Given the description of an element on the screen output the (x, y) to click on. 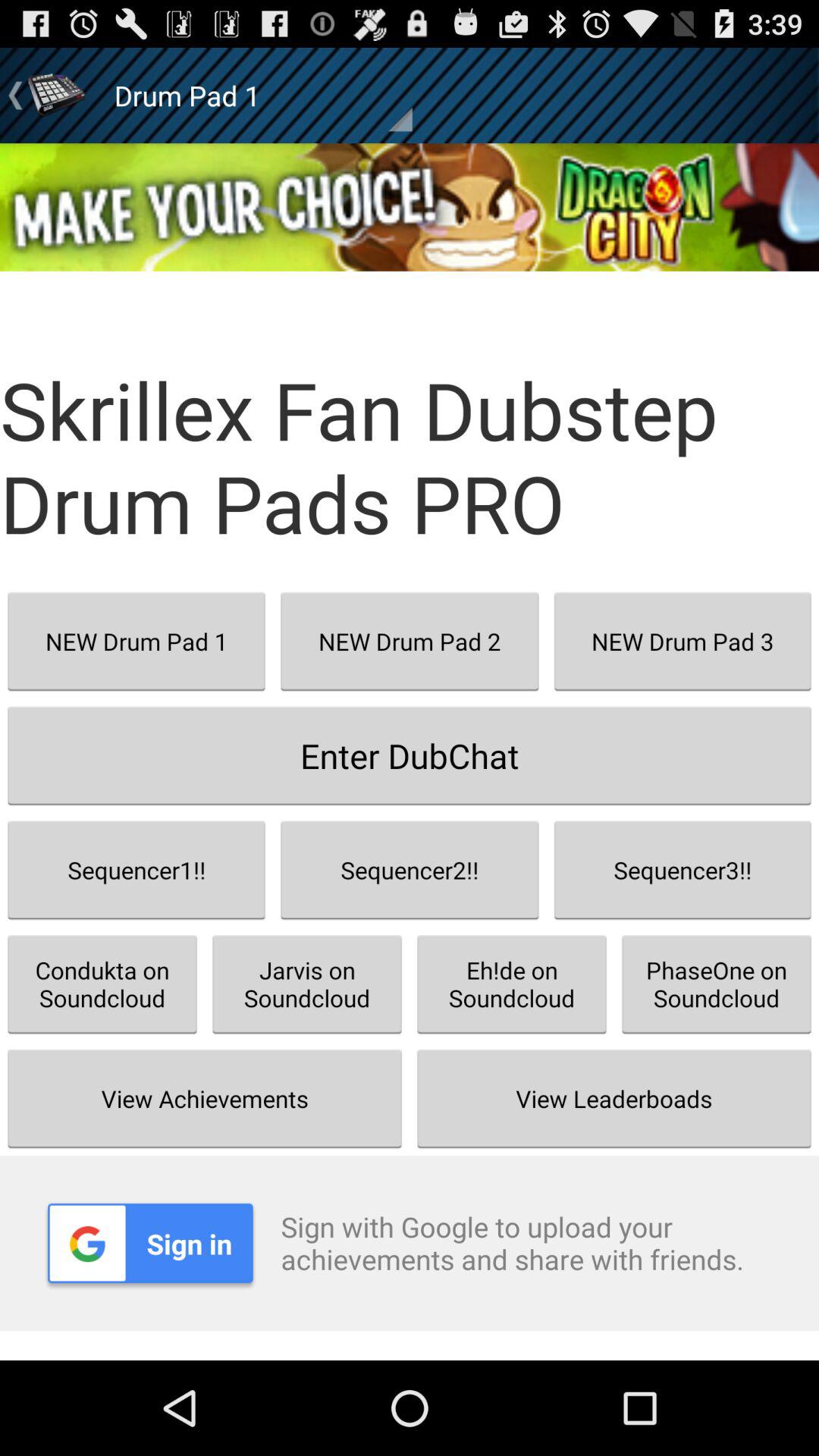
select button to the right of the jarvis on soundcloud (614, 1098)
